Given the description of an element on the screen output the (x, y) to click on. 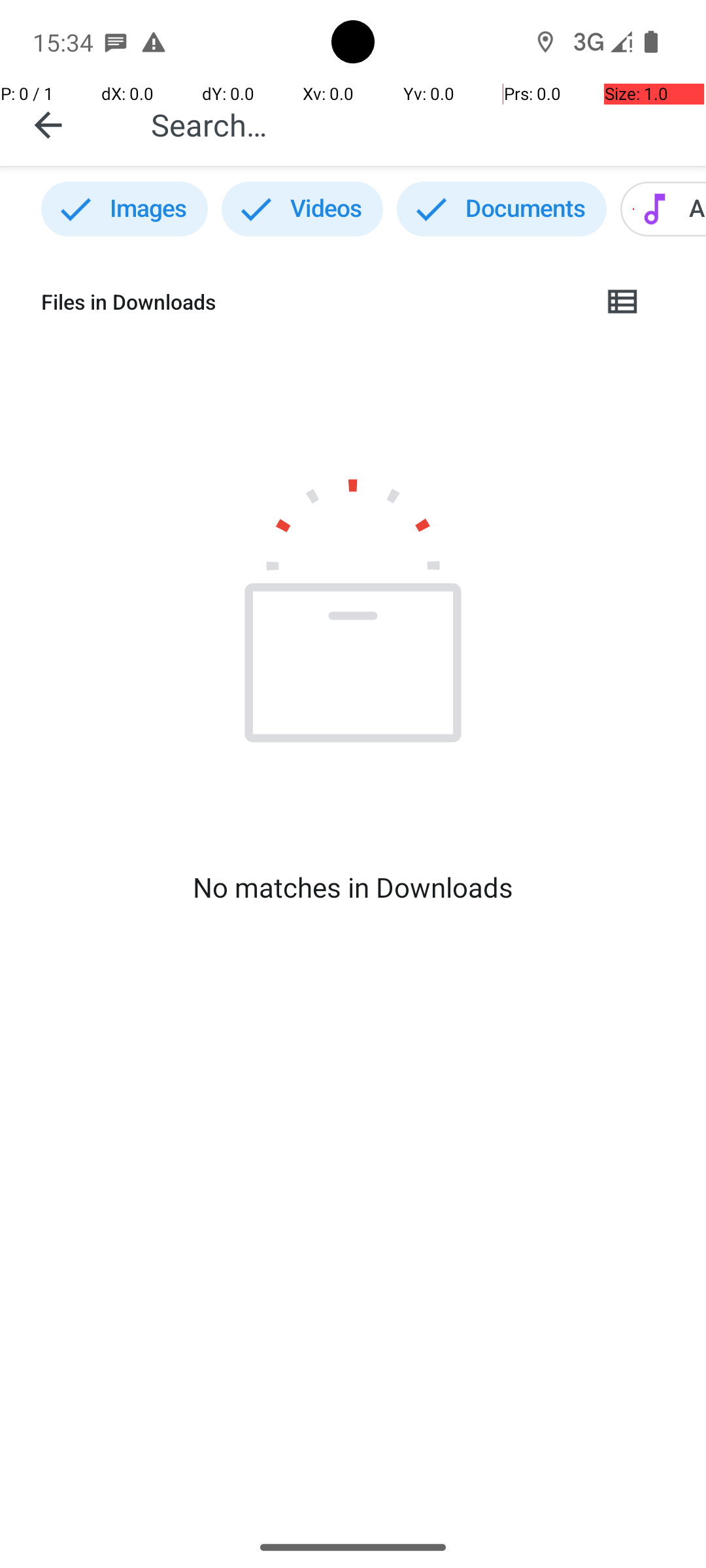
Files in Downloads Element type: android.widget.TextView (311, 301)
List view Element type: android.widget.TextView (622, 301)
Search… Element type: android.widget.AutoCompleteTextView (414, 124)
Images Element type: android.widget.CompoundButton (124, 208)
Videos Element type: android.widget.CompoundButton (302, 208)
Documents Element type: android.widget.CompoundButton (501, 208)
Audio Element type: android.widget.CompoundButton (663, 208)
No matches in Downloads Element type: android.widget.TextView (352, 886)
